Given the description of an element on the screen output the (x, y) to click on. 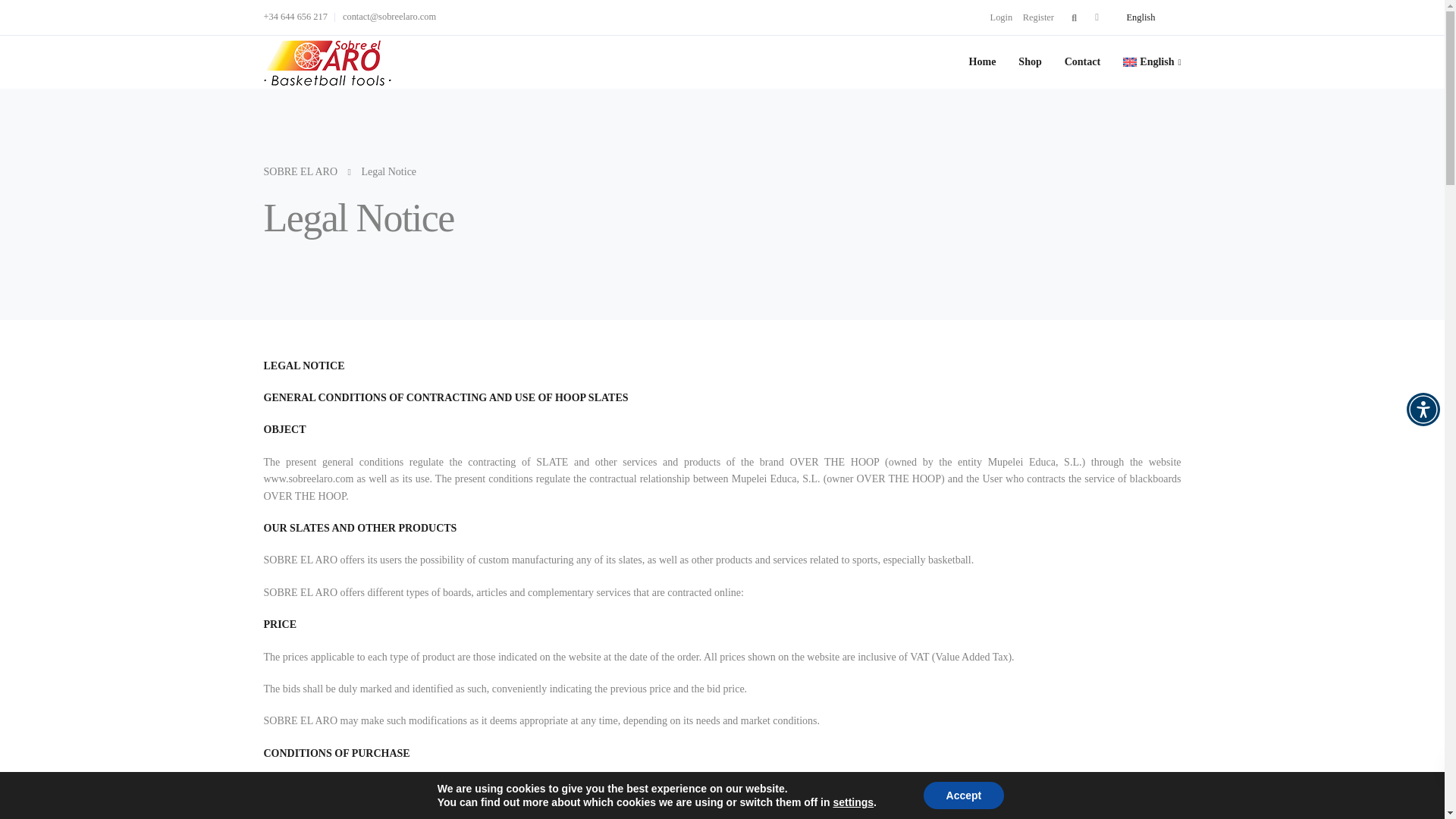
Accept (963, 795)
English (1138, 16)
Home (982, 61)
English (1152, 61)
Go to SOBRE EL ARO. (300, 171)
Register (1038, 17)
Accessibility Menu (1422, 409)
Contact (1082, 61)
Contact (1082, 61)
SOBRE EL ARO (300, 171)
